Given the description of an element on the screen output the (x, y) to click on. 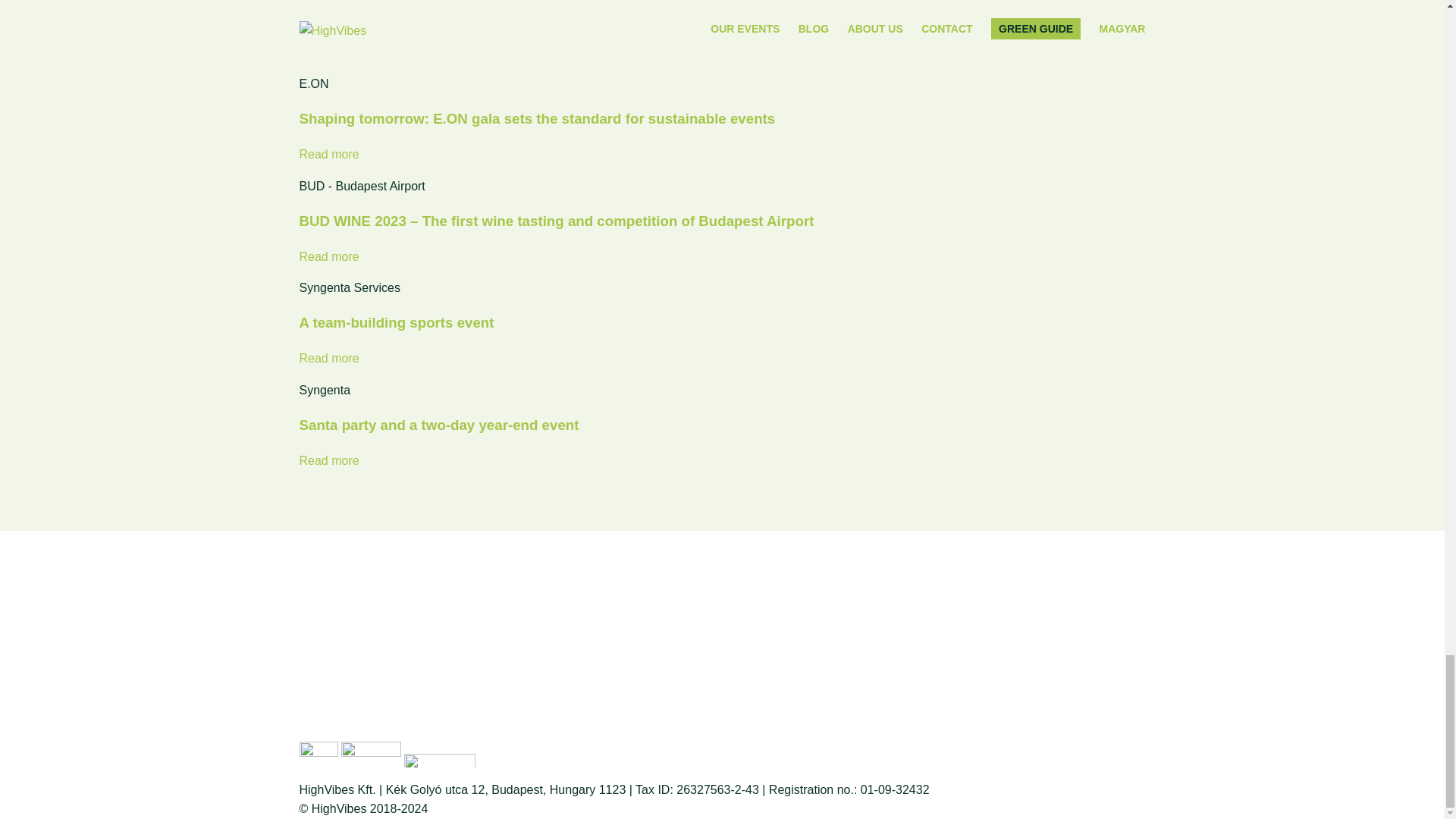
Read more (328, 154)
Read more (328, 256)
Read more (328, 460)
A team-building sports event (395, 322)
Send (1124, 683)
Read more (328, 358)
Santa party and a two-day year-end event (438, 424)
Read more (328, 51)
